Given the description of an element on the screen output the (x, y) to click on. 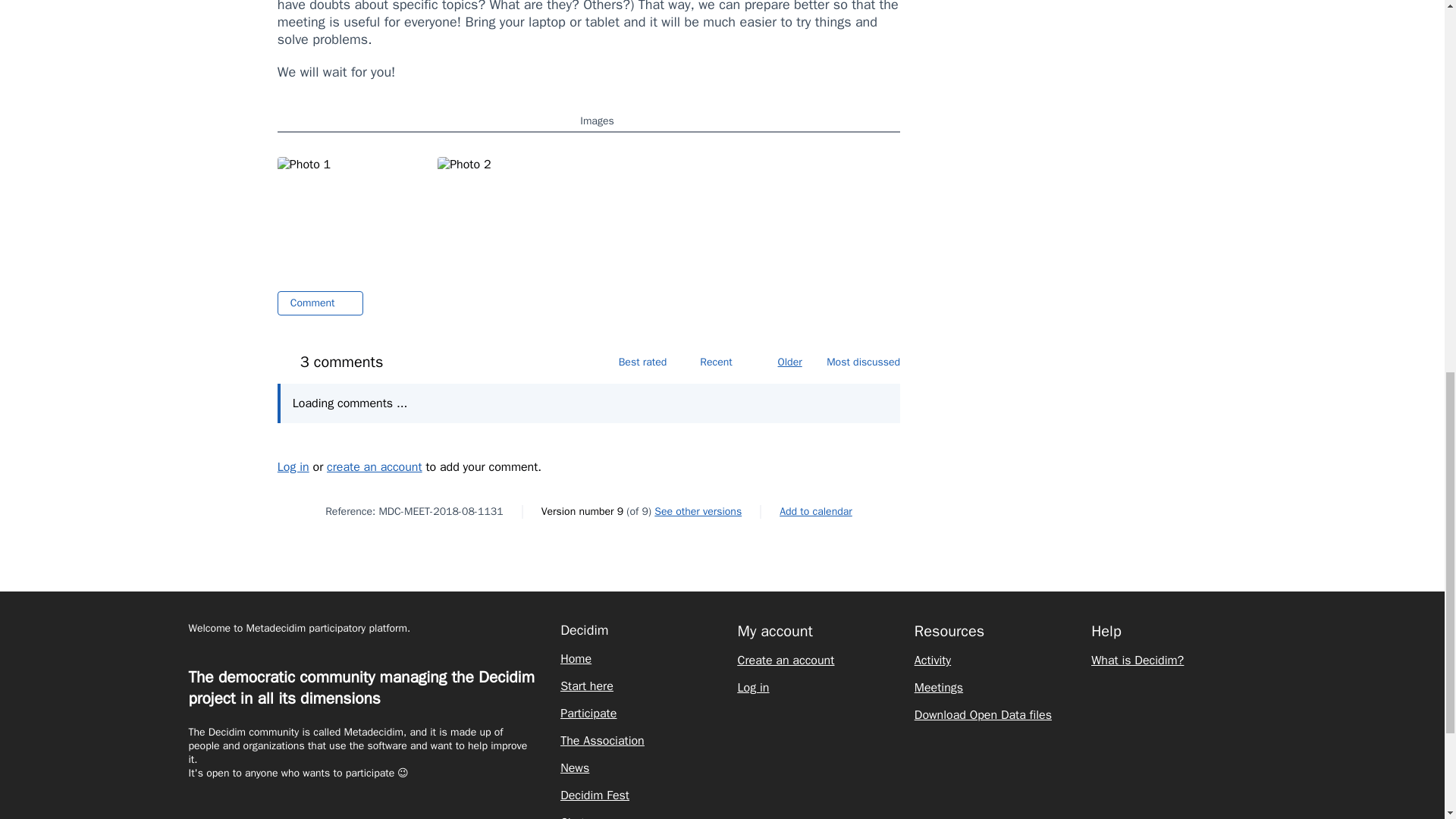
Comment (320, 303)
